Given the description of an element on the screen output the (x, y) to click on. 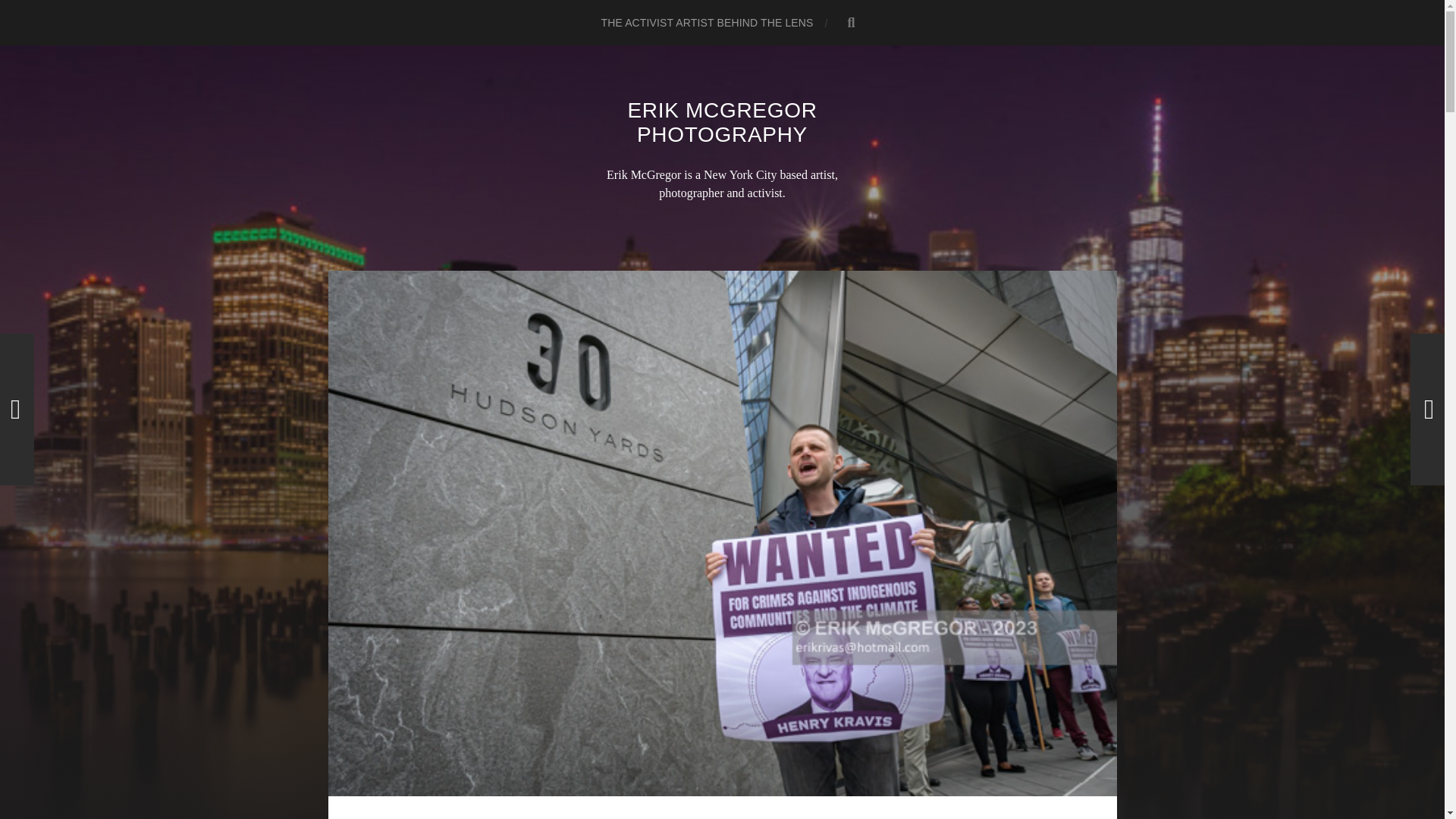
ERIK MCGREGOR PHOTOGRAPHY (721, 122)
THE ACTIVIST ARTIST BEHIND THE LENS (705, 22)
